Given the description of an element on the screen output the (x, y) to click on. 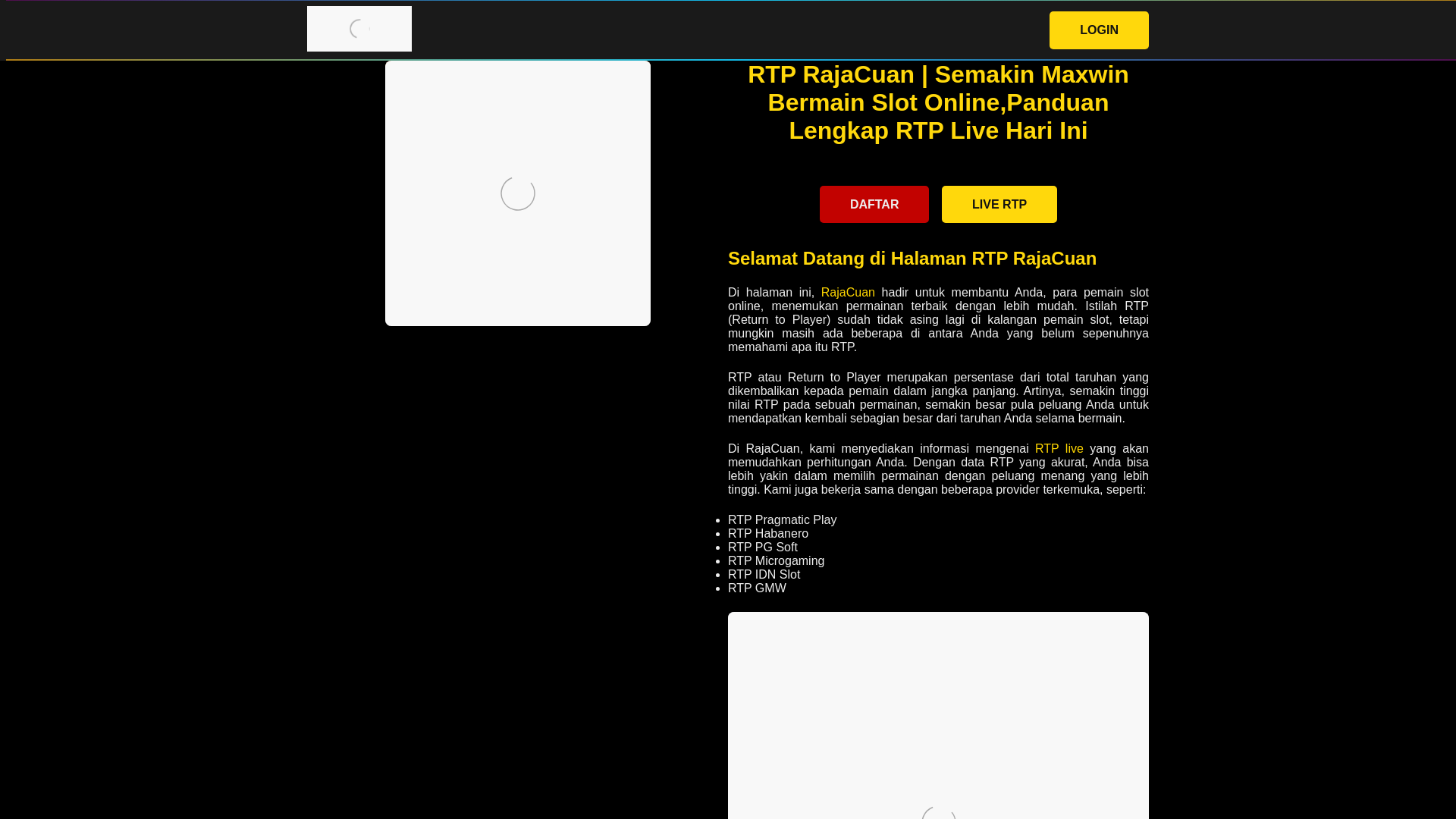
DAFTAR (874, 203)
RajaCuan (848, 291)
LIVE RTP (999, 203)
RTP live (1059, 448)
LOGIN (1098, 30)
